Given the description of an element on the screen output the (x, y) to click on. 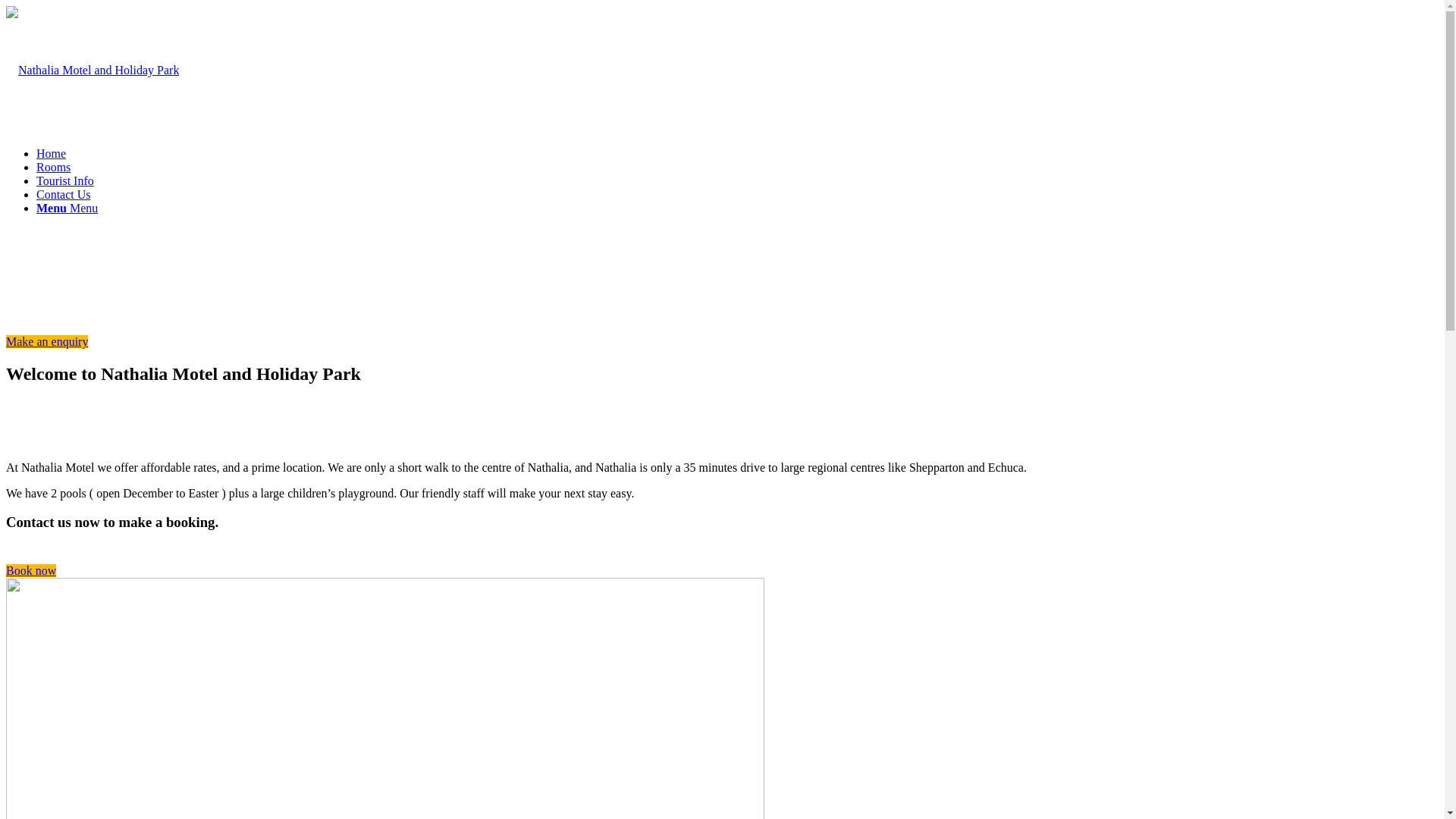
Menu Menu Element type: text (66, 207)
Rooms Element type: text (53, 166)
Tourist Info Element type: text (65, 180)
Contact Us Element type: text (63, 194)
Home Element type: text (50, 153)
Make an enquiry Element type: text (46, 341)
Book now Element type: text (31, 570)
